Given the description of an element on the screen output the (x, y) to click on. 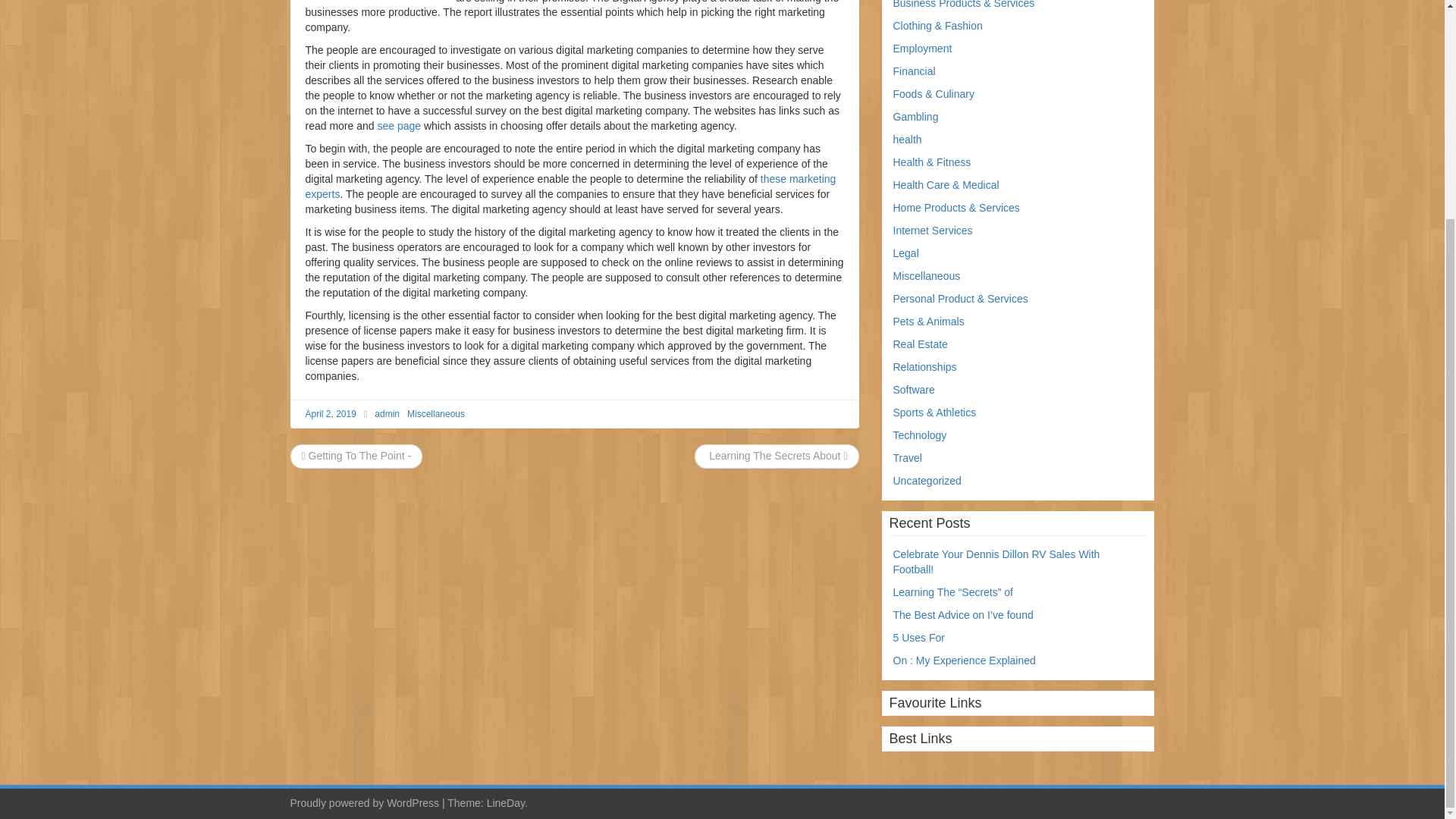
Internet Services (932, 230)
 Getting To The Point - (356, 455)
Gambling (916, 116)
Celebrate Your Dennis Dillon RV Sales With Football! (996, 561)
Financial (914, 70)
Travel (907, 458)
Legal (905, 253)
Uncategorized (926, 480)
Software (913, 389)
5 Uses For (918, 637)
health (907, 139)
see page (398, 125)
admin (386, 413)
 Learning The Secrets About  (776, 455)
Miscellaneous (926, 275)
